Given the description of an element on the screen output the (x, y) to click on. 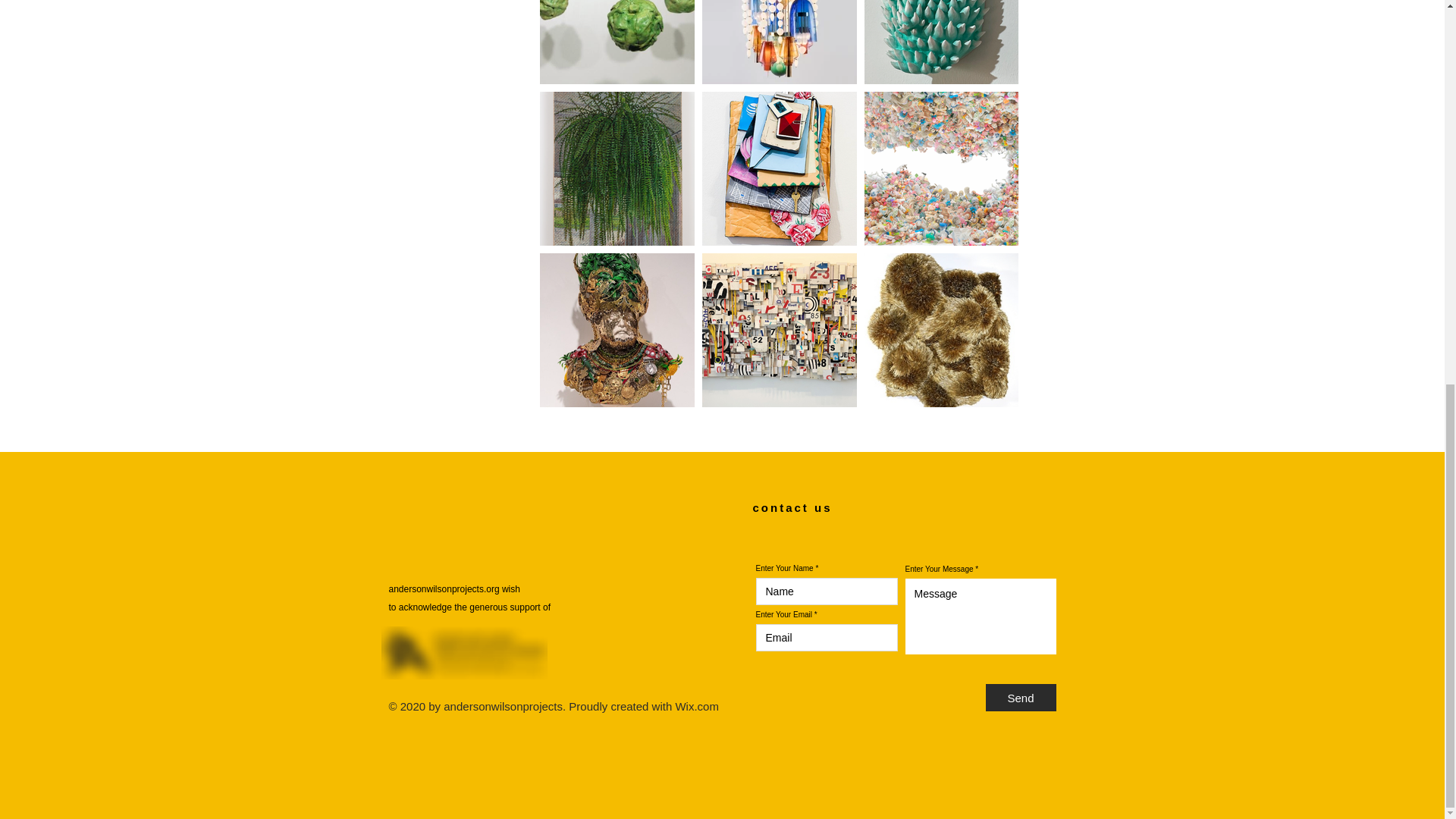
Send (1021, 697)
Wix.com (697, 706)
